Given the description of an element on the screen output the (x, y) to click on. 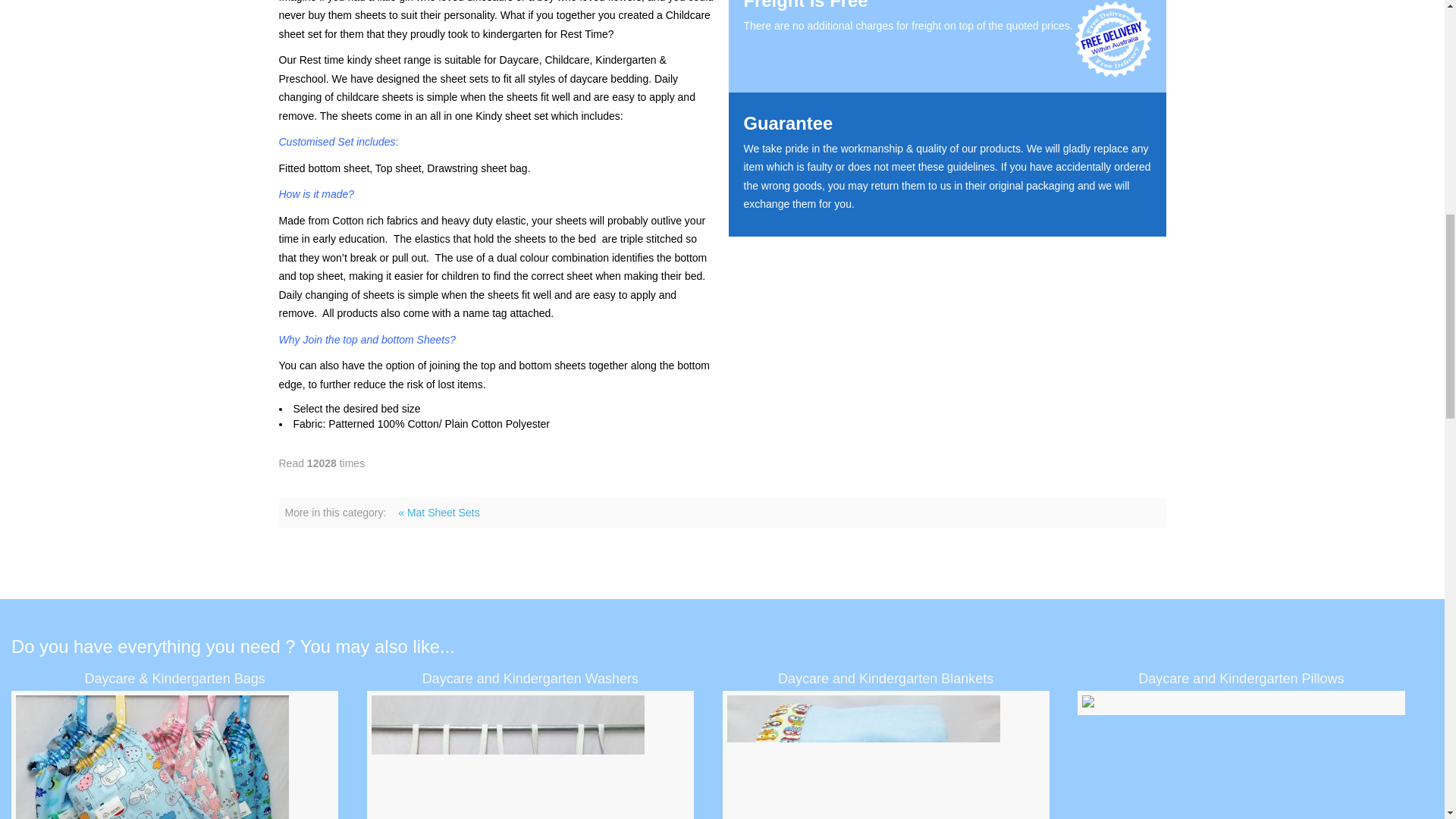
Daycare and Kindergarten Pillows (1240, 702)
Daycare and Kindergarten Blankets (884, 757)
Daycare and Kindergarten Washers (529, 757)
